Given the description of an element on the screen output the (x, y) to click on. 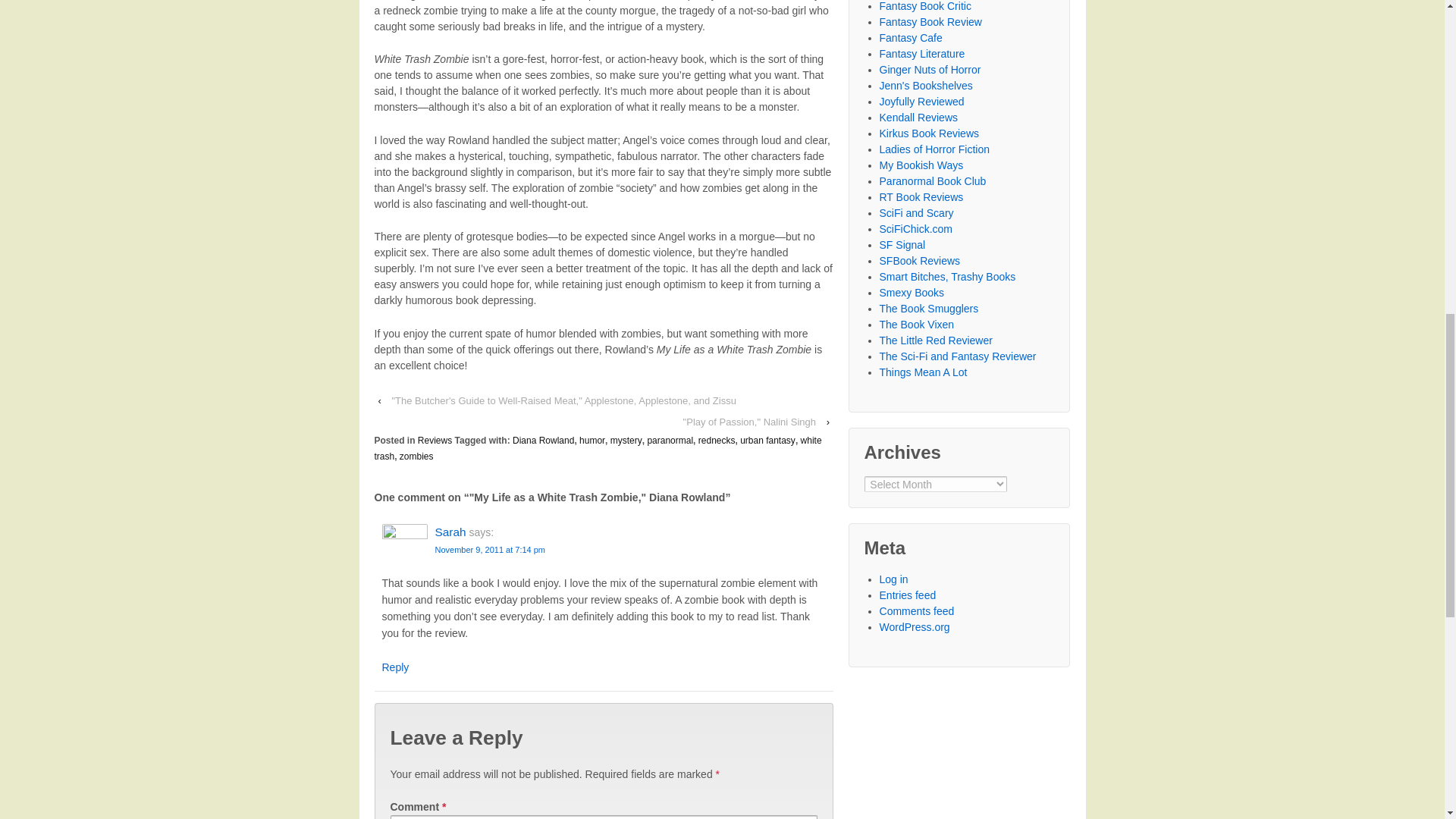
Diana Rowland (542, 439)
Reviews (434, 439)
rednecks (716, 439)
white trash (598, 447)
urban fantasy (766, 439)
zombies (415, 456)
November 9, 2011 at 7:14 pm (490, 549)
humor (592, 439)
Sarah (450, 531)
"Play of Passion," Nalini Singh (749, 421)
